Given the description of an element on the screen output the (x, y) to click on. 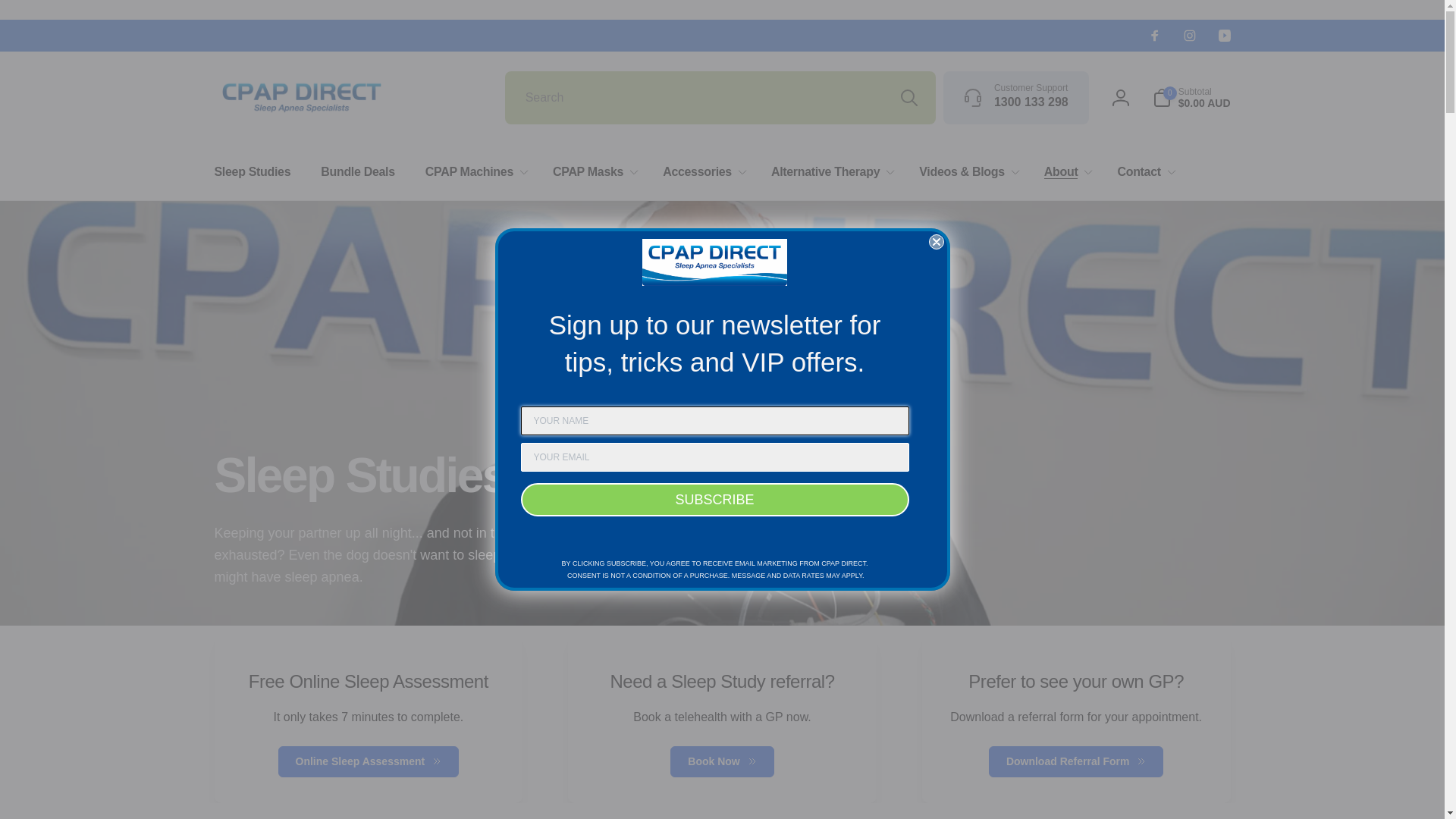
Skip to content (24, 16)
YouTube (1223, 35)
Facebook (1154, 35)
Instagram (1188, 35)
